Given the description of an element on the screen output the (x, y) to click on. 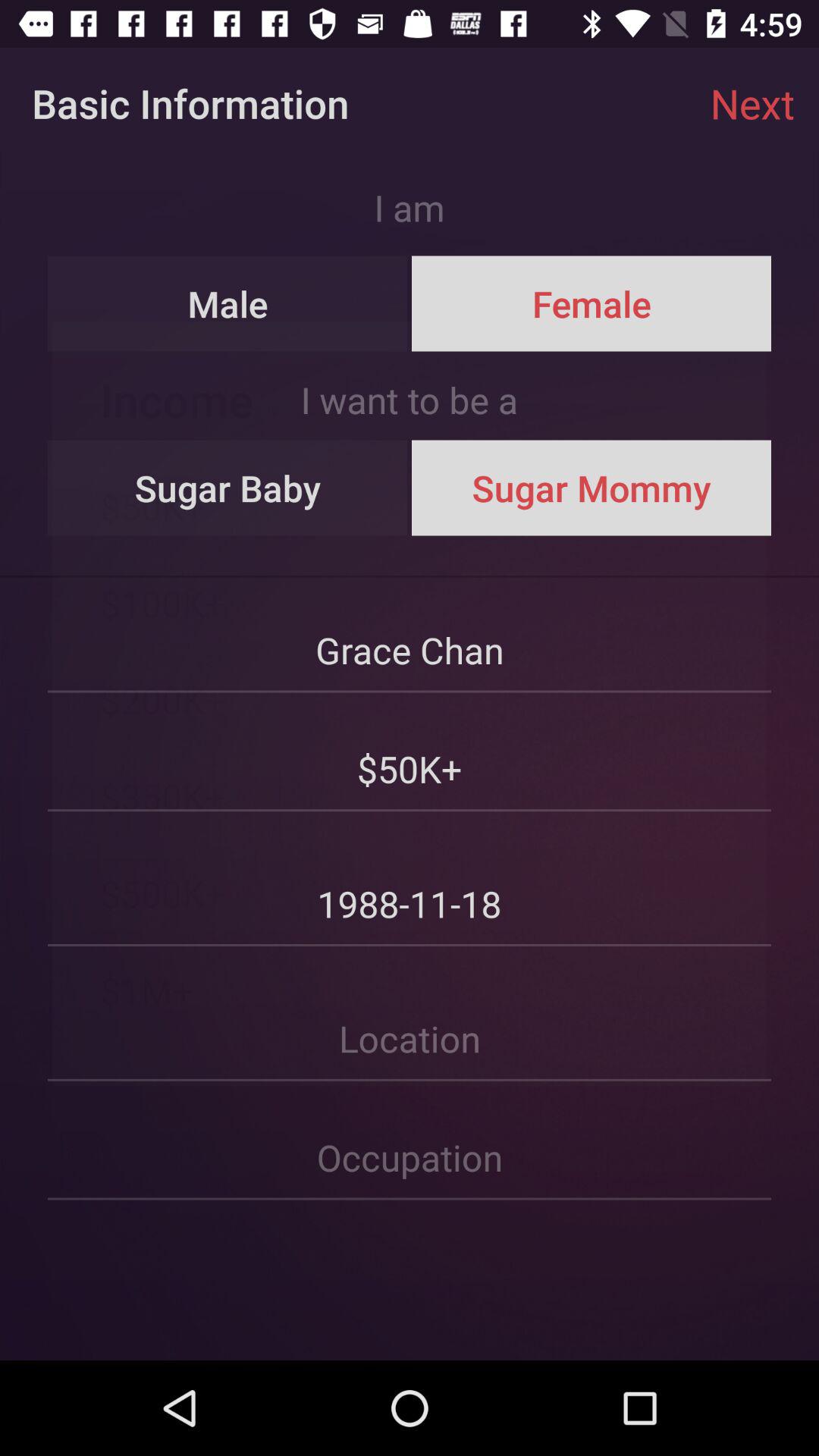
click the grace chan item (409, 633)
